Given the description of an element on the screen output the (x, y) to click on. 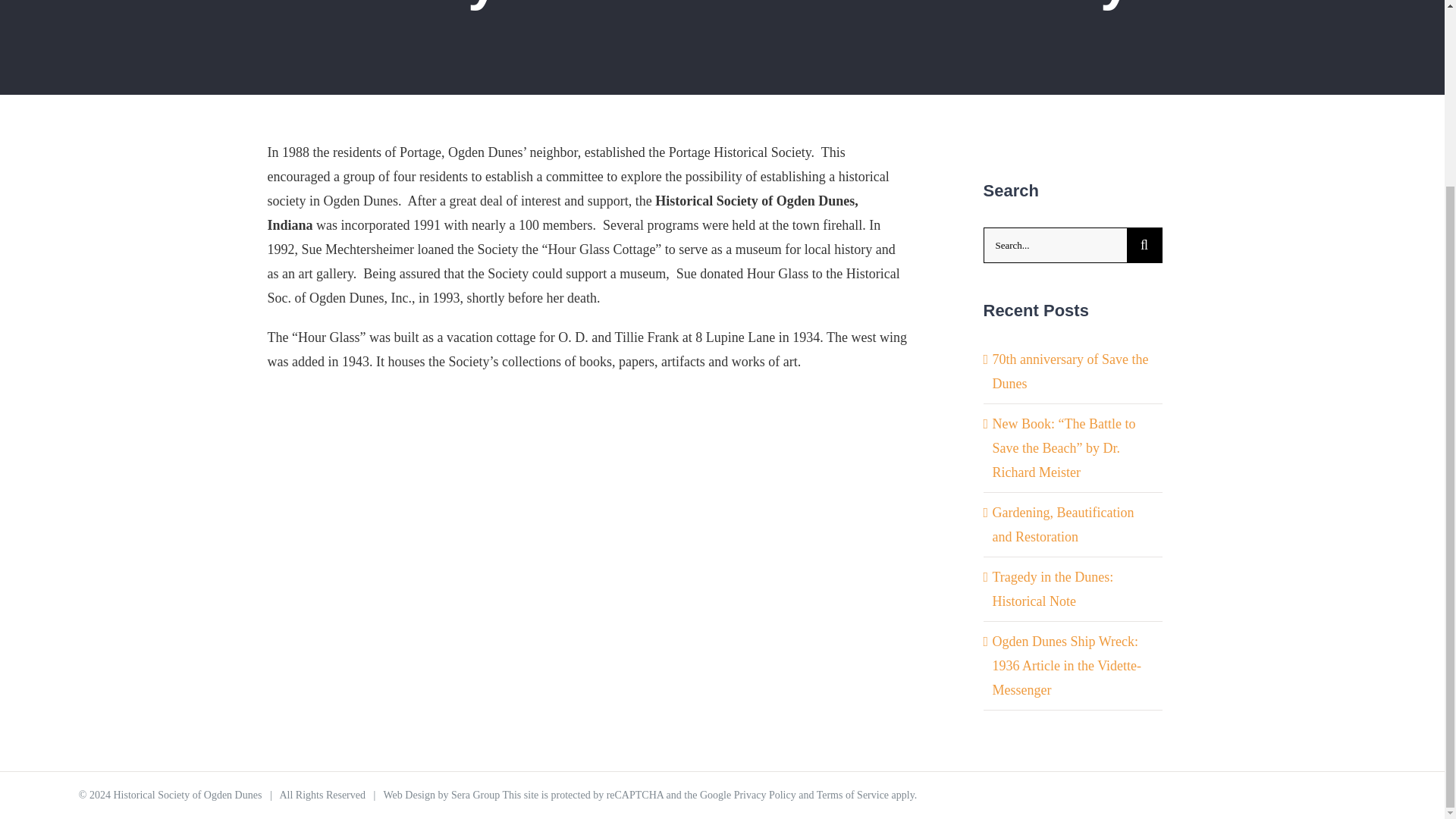
Gardening, Beautification and Restoration (1062, 524)
Sera Group (475, 794)
Terms of Service (852, 794)
Tragedy in the Dunes: Historical Note (1052, 589)
70th anniversary of Save the Dunes (1069, 371)
Privacy Policy (764, 794)
